Given the description of an element on the screen output the (x, y) to click on. 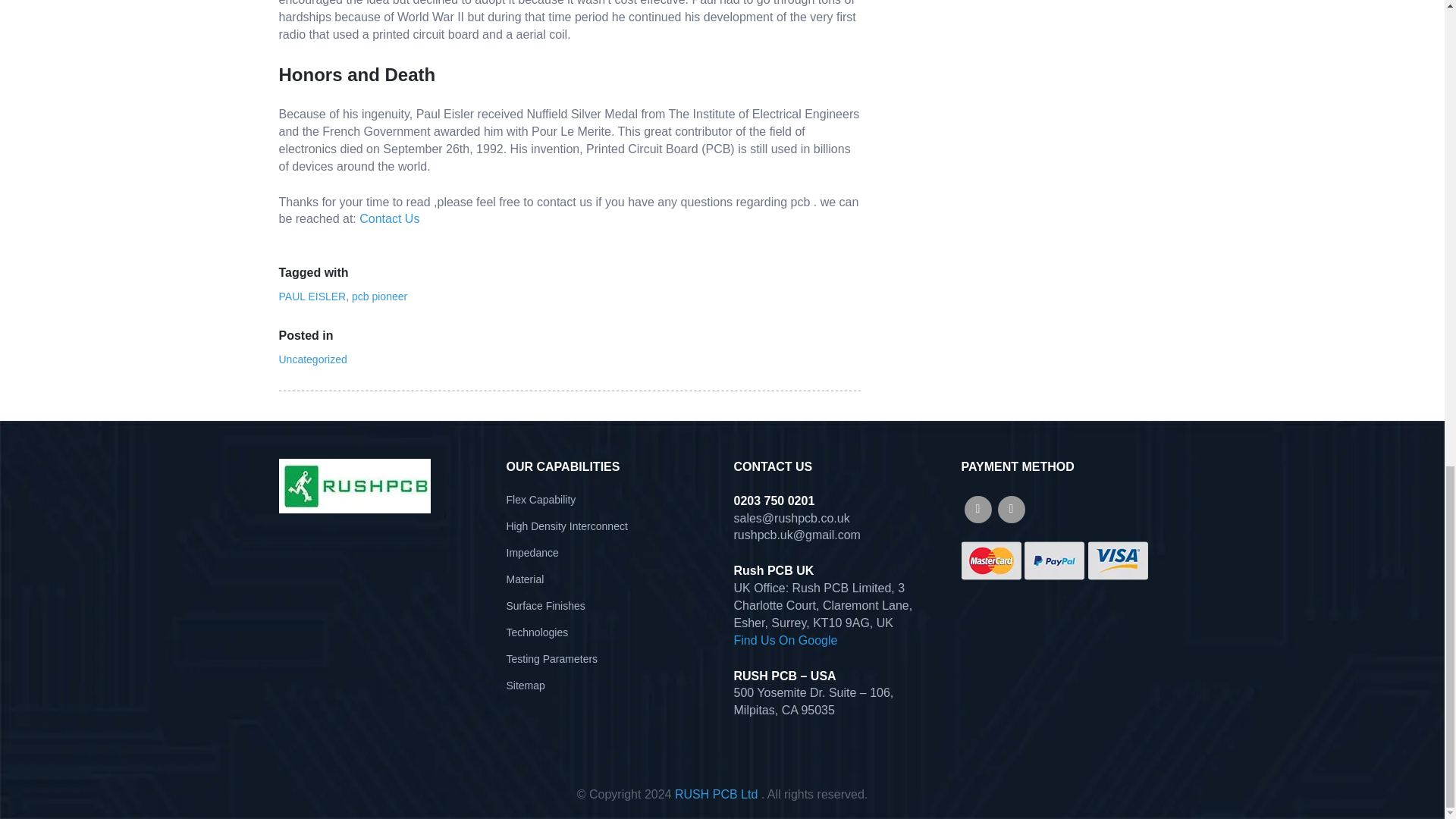
Twitter (1011, 509)
Facebook (977, 509)
RUSH PCB Ltd (716, 793)
